Given the description of an element on the screen output the (x, y) to click on. 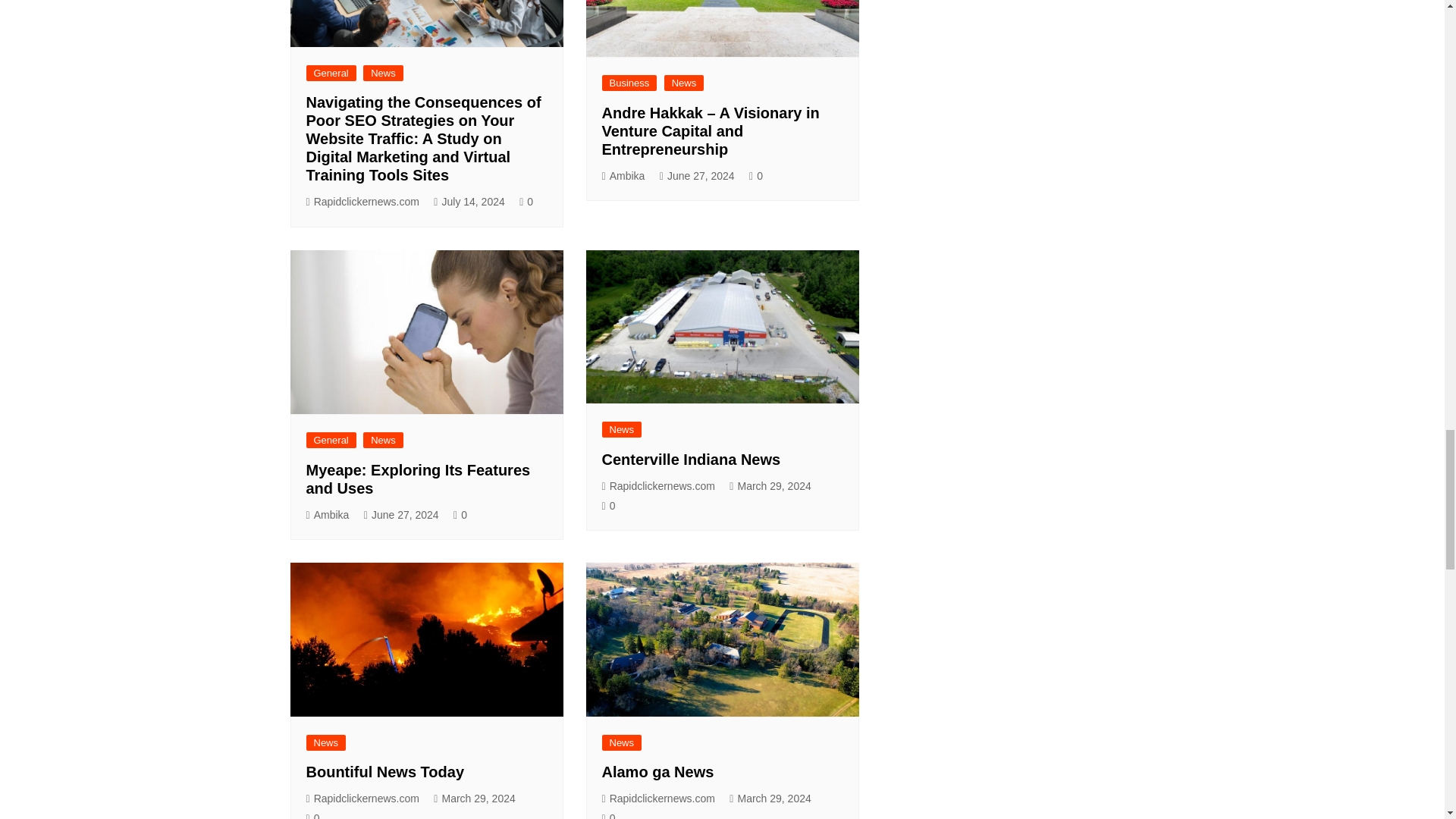
News (382, 439)
Ambika (623, 176)
News (382, 73)
Rapidclickernews.com (362, 201)
News (683, 82)
General (330, 439)
June 27, 2024 (697, 176)
General (330, 73)
July 14, 2024 (468, 201)
